Given the description of an element on the screen output the (x, y) to click on. 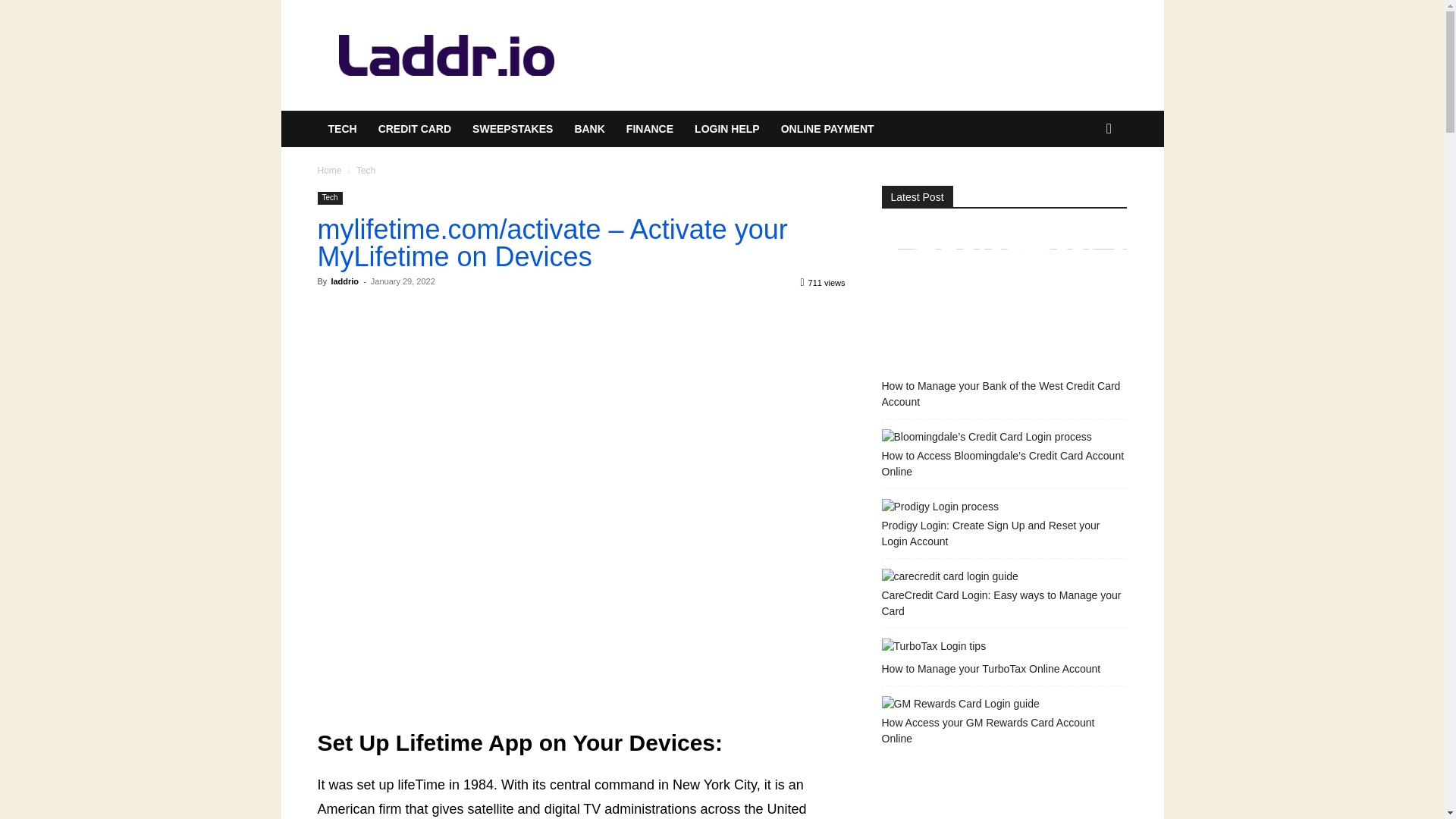
Laddrio (445, 55)
ONLINE PAYMENT (827, 128)
Search (1085, 189)
CREDIT CARD (414, 128)
LOGIN HELP (727, 128)
TECH (341, 128)
laddrio (344, 280)
FINANCE (649, 128)
Tech (329, 197)
Home (328, 170)
